Given the description of an element on the screen output the (x, y) to click on. 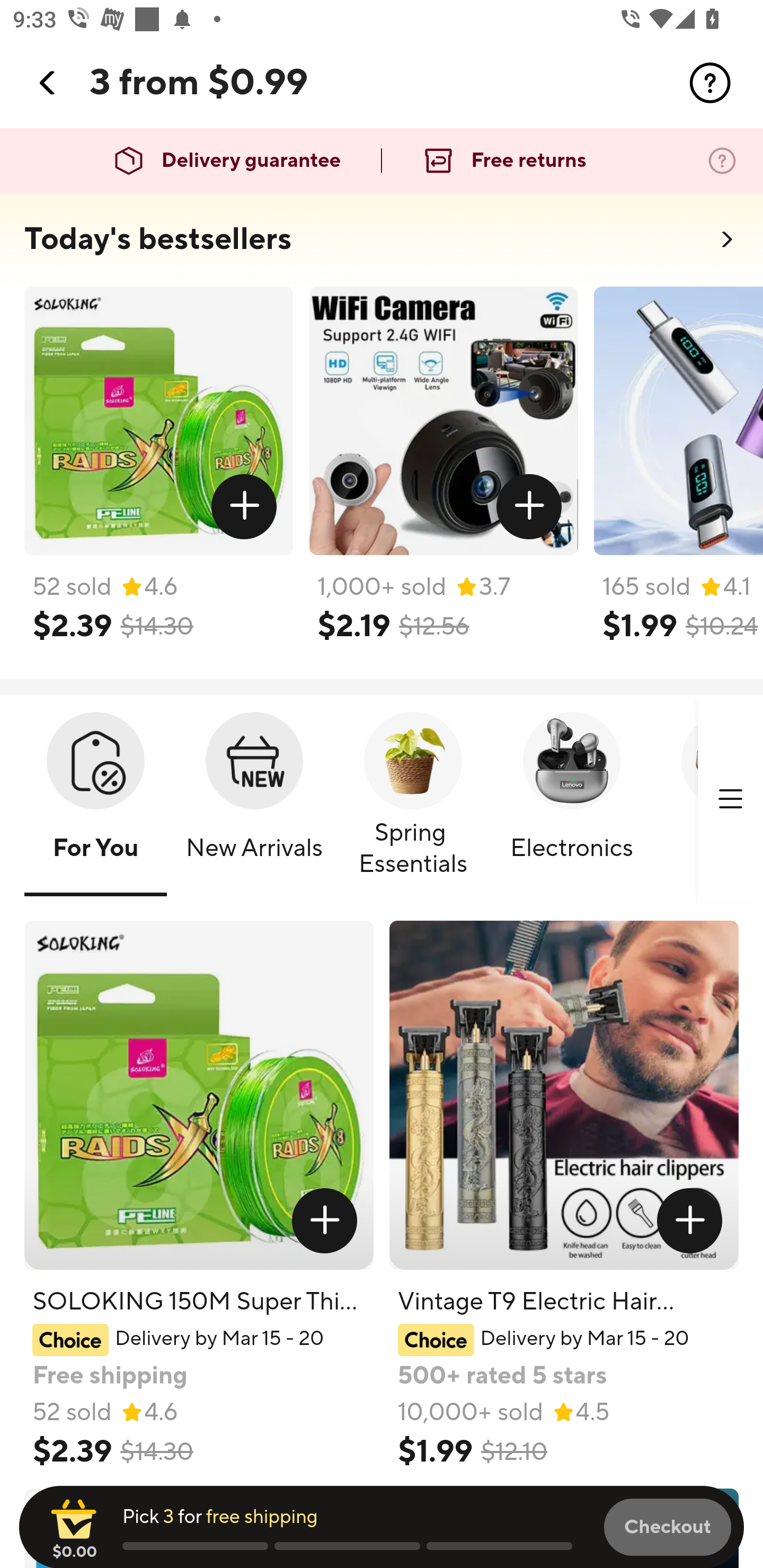
 (710, 82)
 (48, 82)
Today's bestsellers  Today's bestsellers  (381, 244)
Today's bestsellers (157, 239)
 (244, 506)
 (529, 506)
 (730, 799)
144x144.png_ For You (95, 800)
144x144.png_ New Arrivals (254, 800)
200x200.png_ Spring Essentials (412, 800)
300x300.png_ Electronics (571, 800)
 (323, 1220)
 (689, 1220)
